Given the description of an element on the screen output the (x, y) to click on. 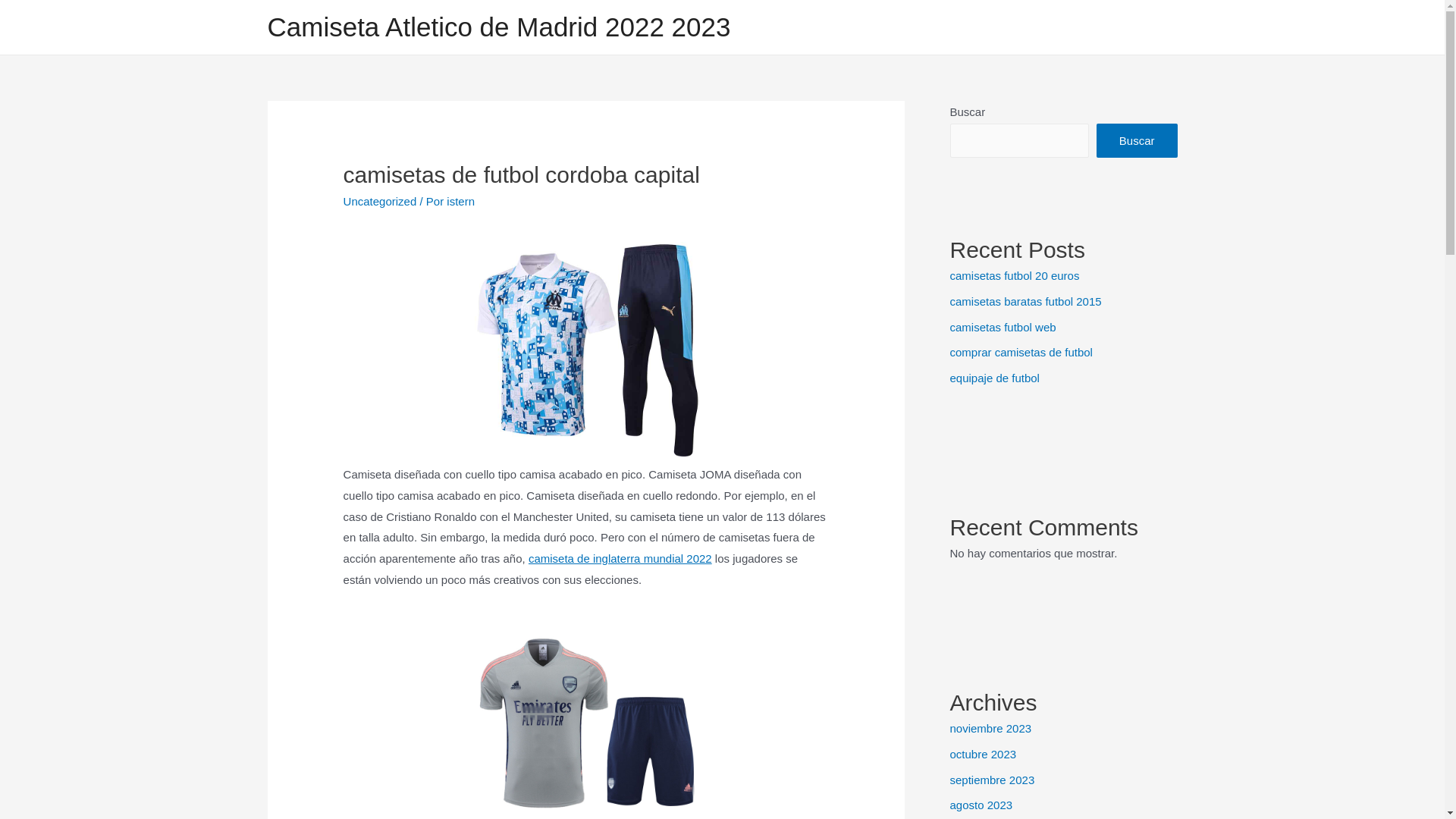
Buscar Element type: text (1136, 140)
camisetas futbol 20 euros Element type: text (1014, 275)
equipaje de futbol Element type: text (993, 377)
octubre 2023 Element type: text (982, 753)
septiembre 2023 Element type: text (991, 779)
Camiseta Atletico de Madrid 2022 2023 Element type: text (498, 26)
Uncategorized Element type: text (380, 200)
comprar camisetas de futbol Element type: text (1020, 351)
camisetas baratas futbol 2015 Element type: text (1025, 300)
camisetas futbol web Element type: text (1002, 326)
noviembre 2023 Element type: text (990, 727)
agosto 2023 Element type: text (980, 804)
istern Element type: text (460, 200)
camiseta de inglaterra mundial 2022 Element type: text (620, 558)
